Given the description of an element on the screen output the (x, y) to click on. 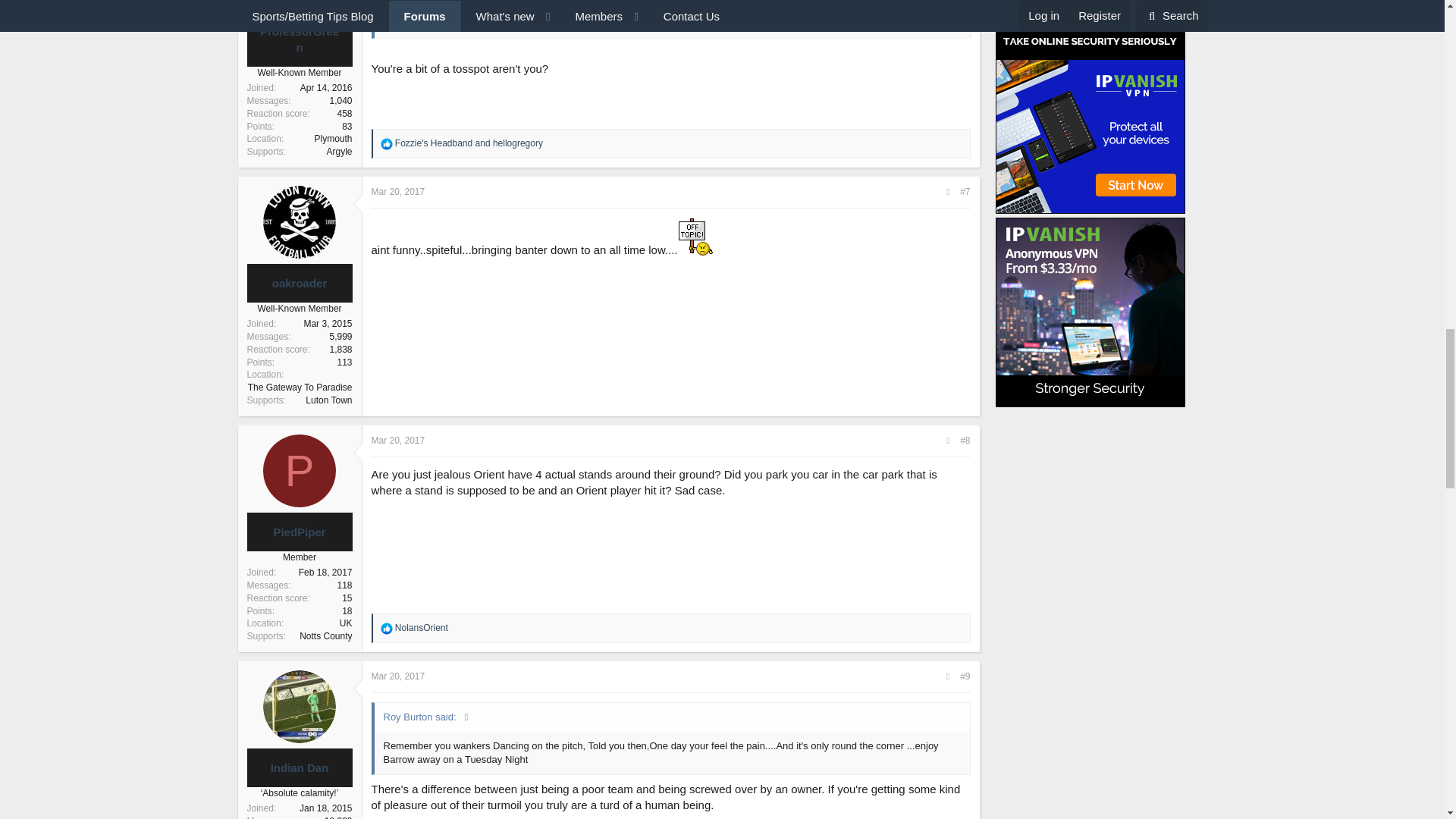
Like (386, 628)
Mar 20, 2017 at 8:48 AM (398, 191)
Mar 20, 2017 at 8:58 AM (398, 439)
Like (386, 143)
offtopic    :ot: (695, 236)
Mar 20, 2017 at 9:21 AM (398, 675)
